Given the description of an element on the screen output the (x, y) to click on. 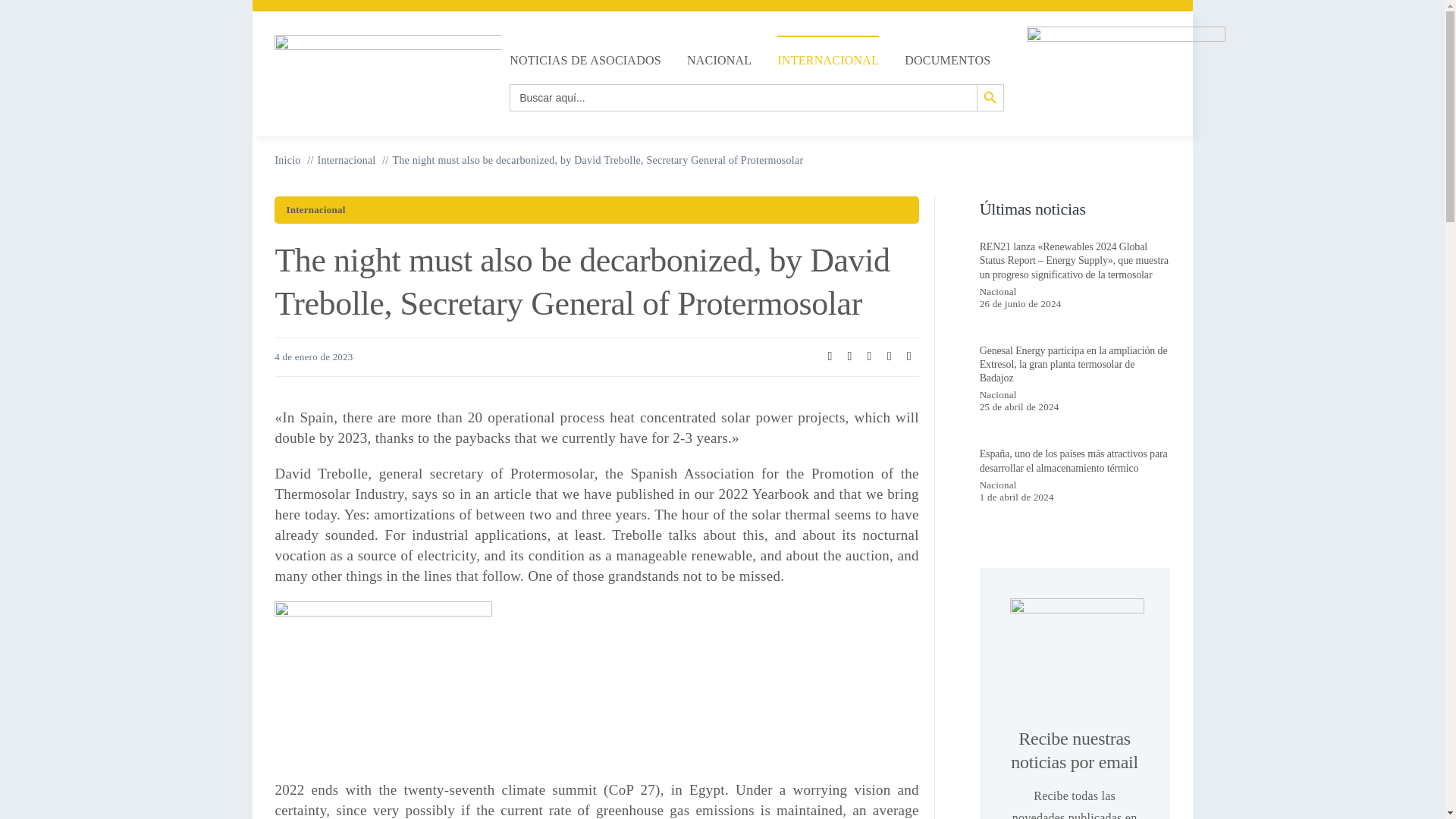
WhatsApp (869, 356)
news-letter (1077, 645)
Internacional (346, 160)
Nacional (997, 291)
Nacional (997, 394)
Internacional (315, 209)
X (850, 356)
NOTICIAS DE ASOCIADOS (585, 60)
Inicio (287, 160)
Facebook (829, 356)
NACIONAL (719, 60)
DOCUMENTOS (947, 60)
Nacional (997, 484)
INTERNACIONAL (828, 60)
